Given the description of an element on the screen output the (x, y) to click on. 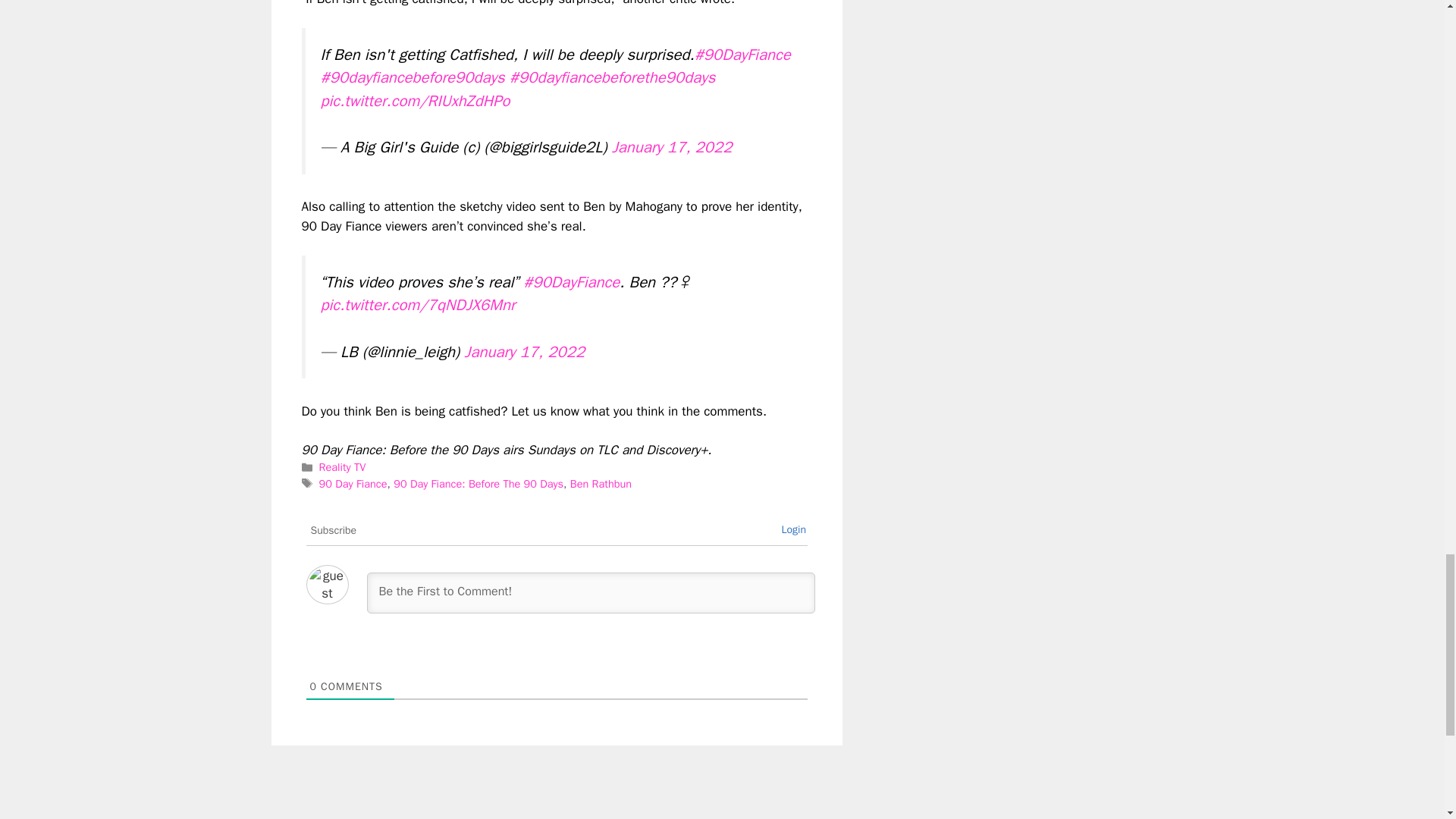
January 17, 2022 (671, 147)
Reality TV (342, 467)
January 17, 2022 (524, 351)
90 Day Fiance (352, 483)
